Given the description of an element on the screen output the (x, y) to click on. 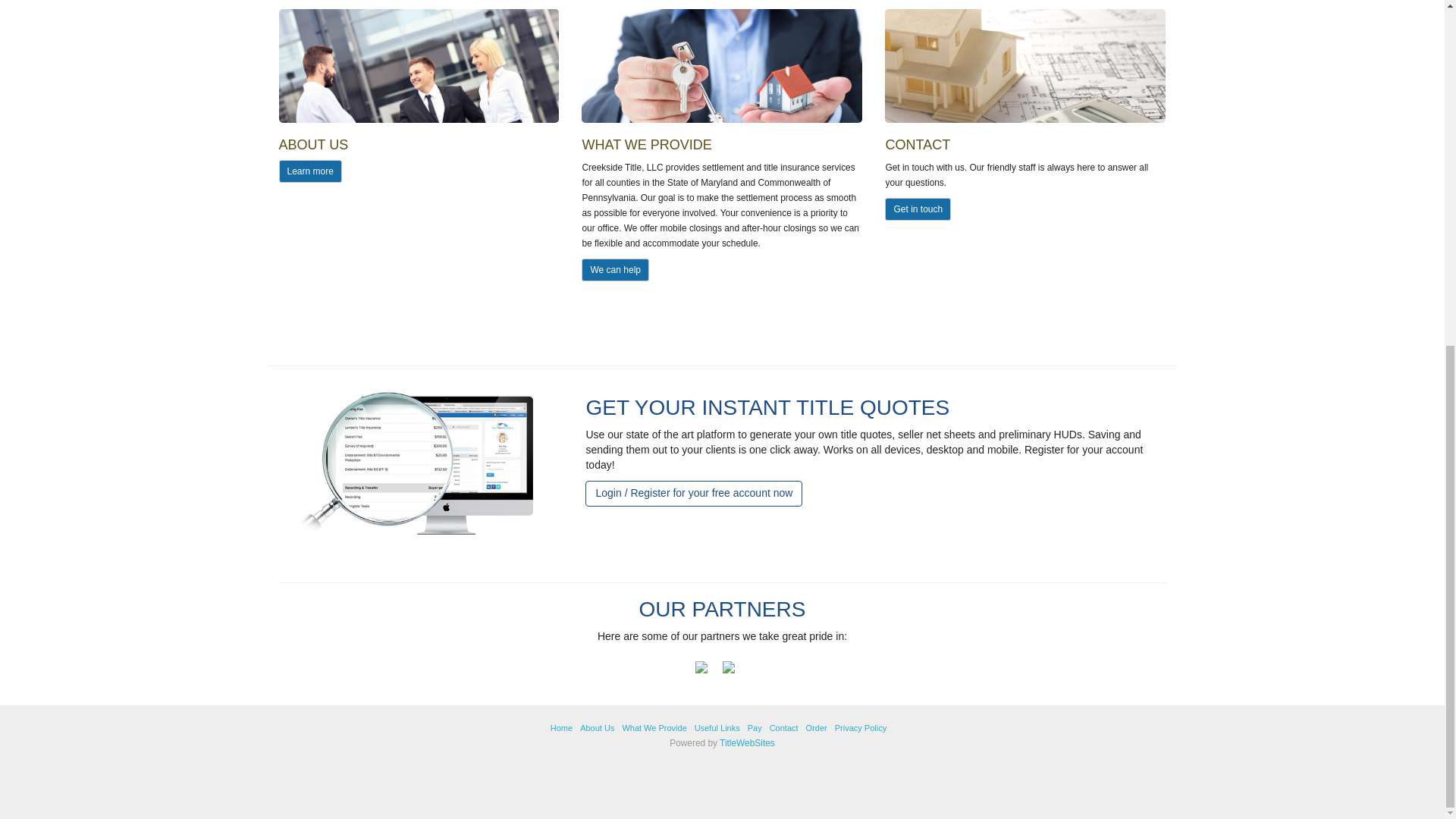
Learn more (310, 170)
We can help (614, 269)
Contact (783, 727)
What We Provide (653, 727)
Useful Links (716, 727)
Get in touch (917, 209)
About Us (596, 727)
Privacy Policy (860, 727)
Home (561, 727)
TitleWebSites (746, 742)
Order (816, 727)
Pay (754, 727)
